Given the description of an element on the screen output the (x, y) to click on. 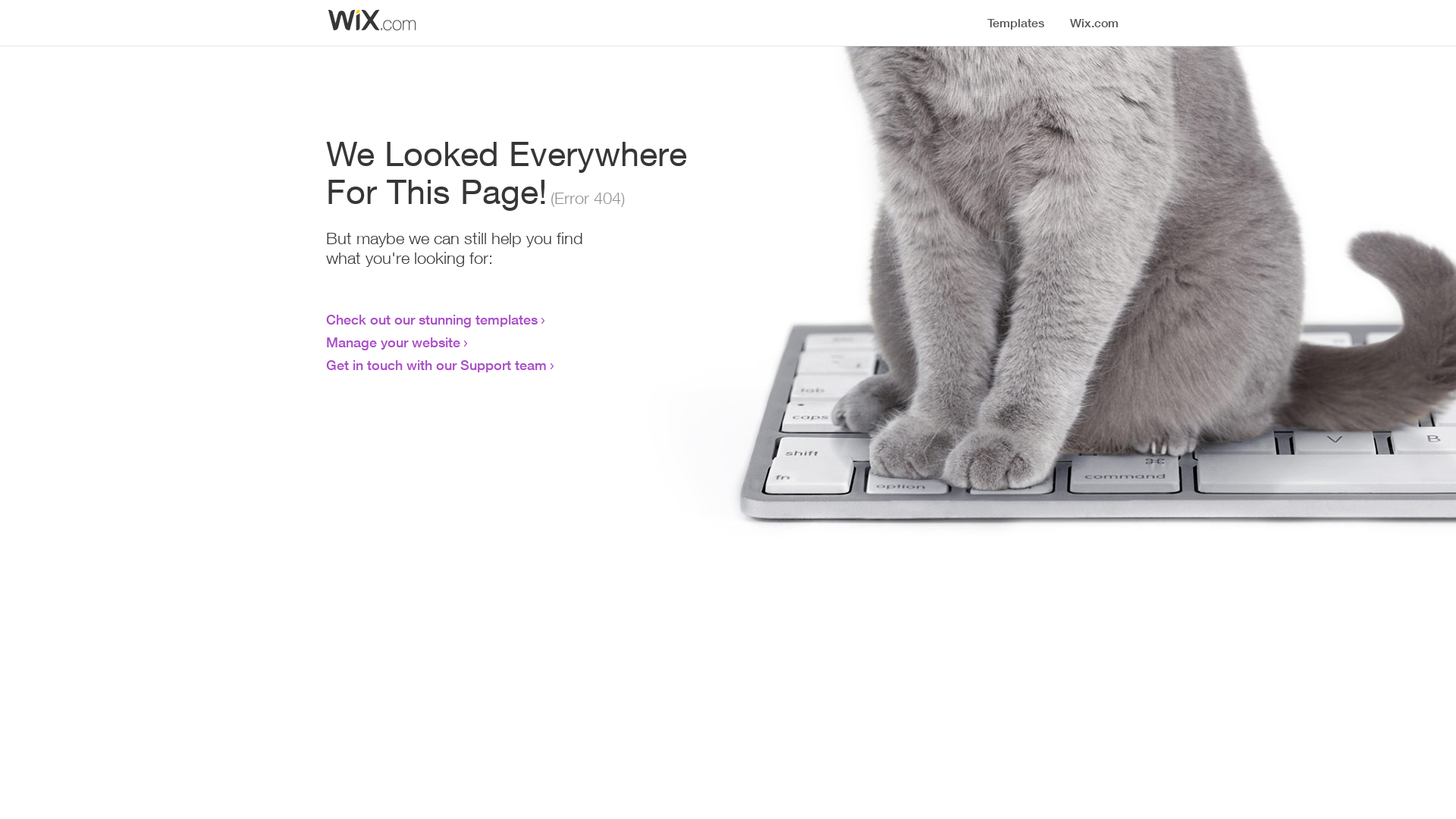
Check out our stunning templates Element type: text (431, 318)
Get in touch with our Support team Element type: text (436, 364)
Manage your website Element type: text (393, 341)
